Given the description of an element on the screen output the (x, y) to click on. 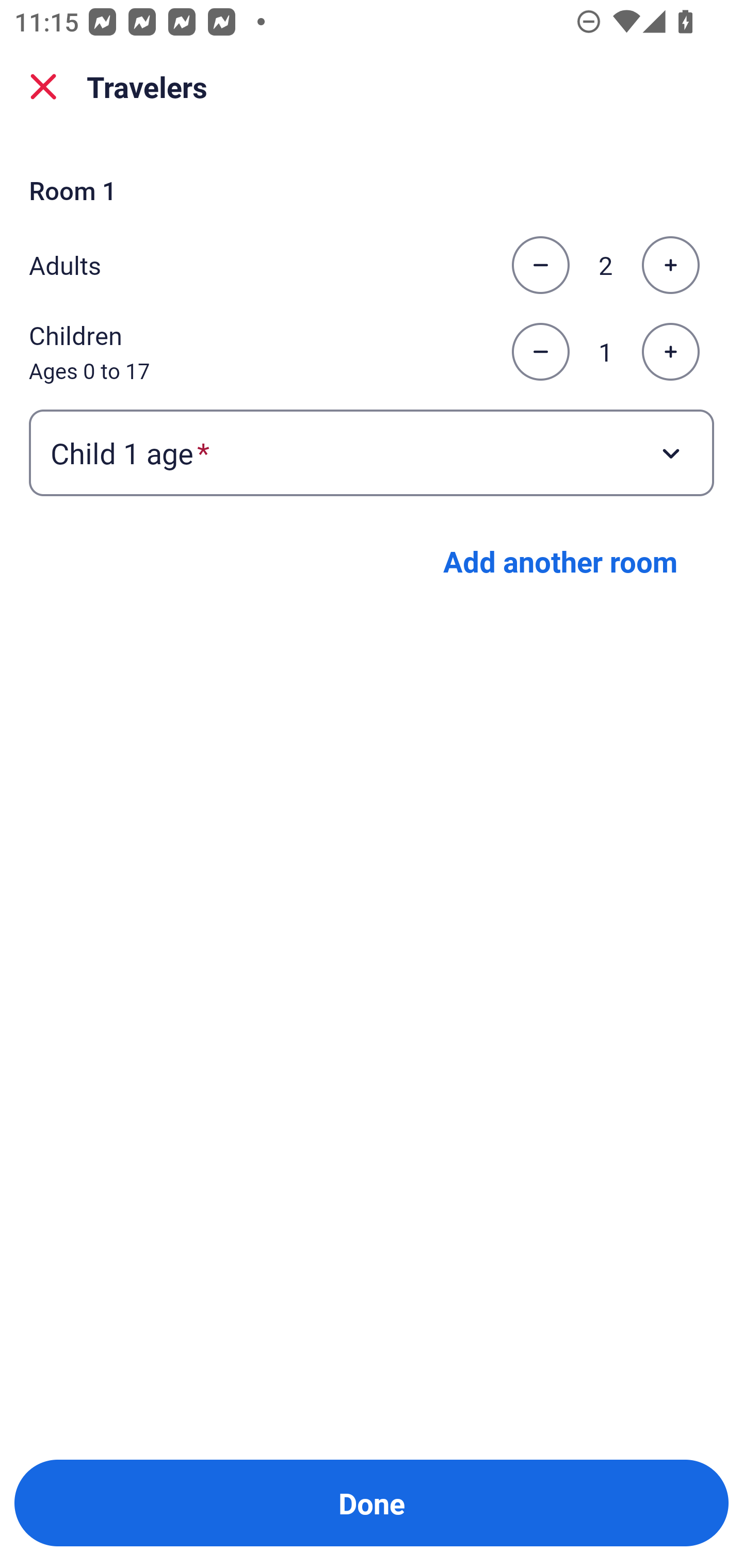
close (43, 86)
Decrease the number of adults (540, 264)
Increase the number of adults (670, 264)
Decrease the number of children (540, 351)
Increase the number of children (670, 351)
Child 1 age required Button (371, 452)
Add another room (560, 561)
Done (371, 1502)
